Given the description of an element on the screen output the (x, y) to click on. 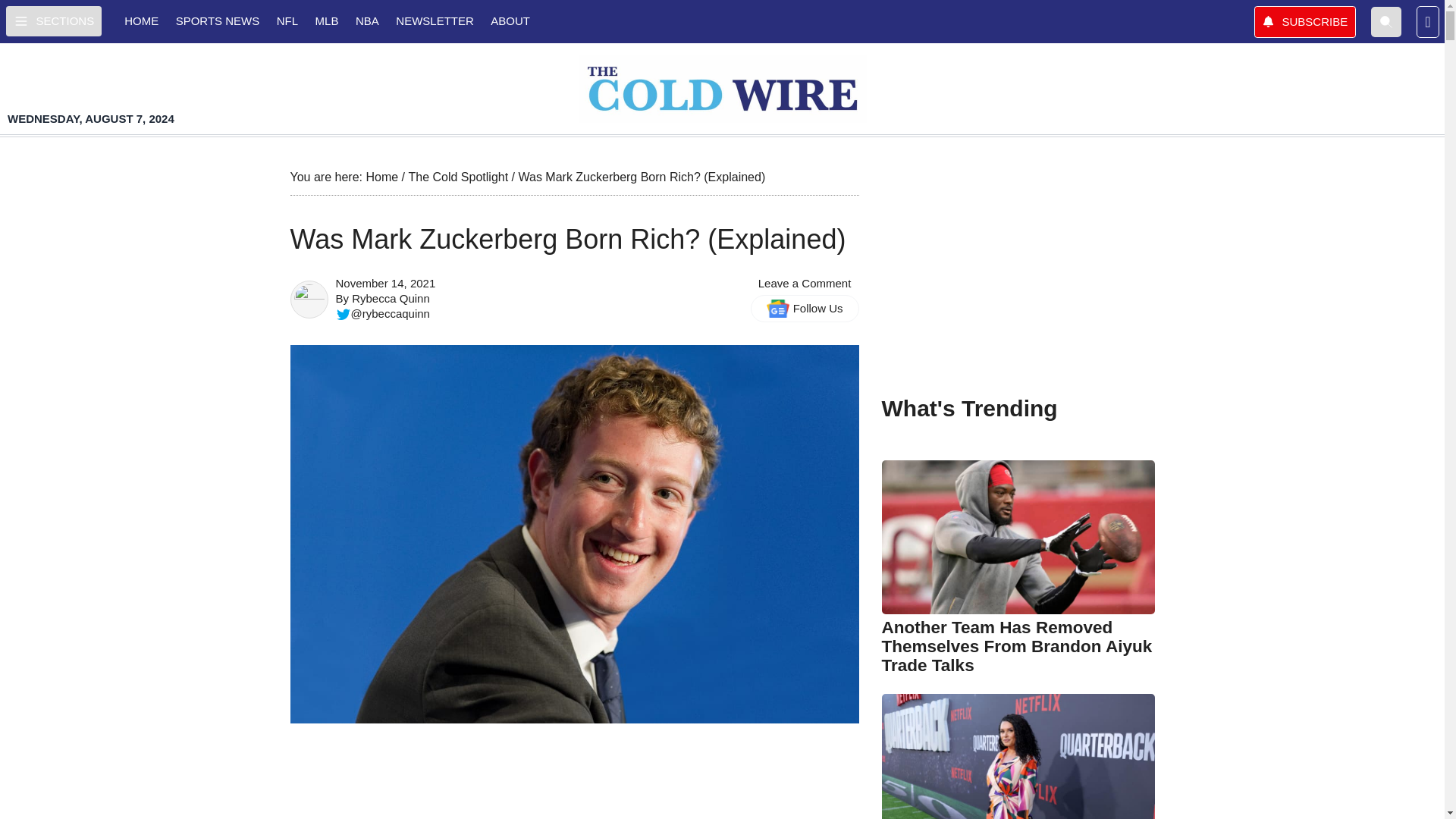
Search (1385, 20)
Open Menu (53, 20)
